Given the description of an element on the screen output the (x, y) to click on. 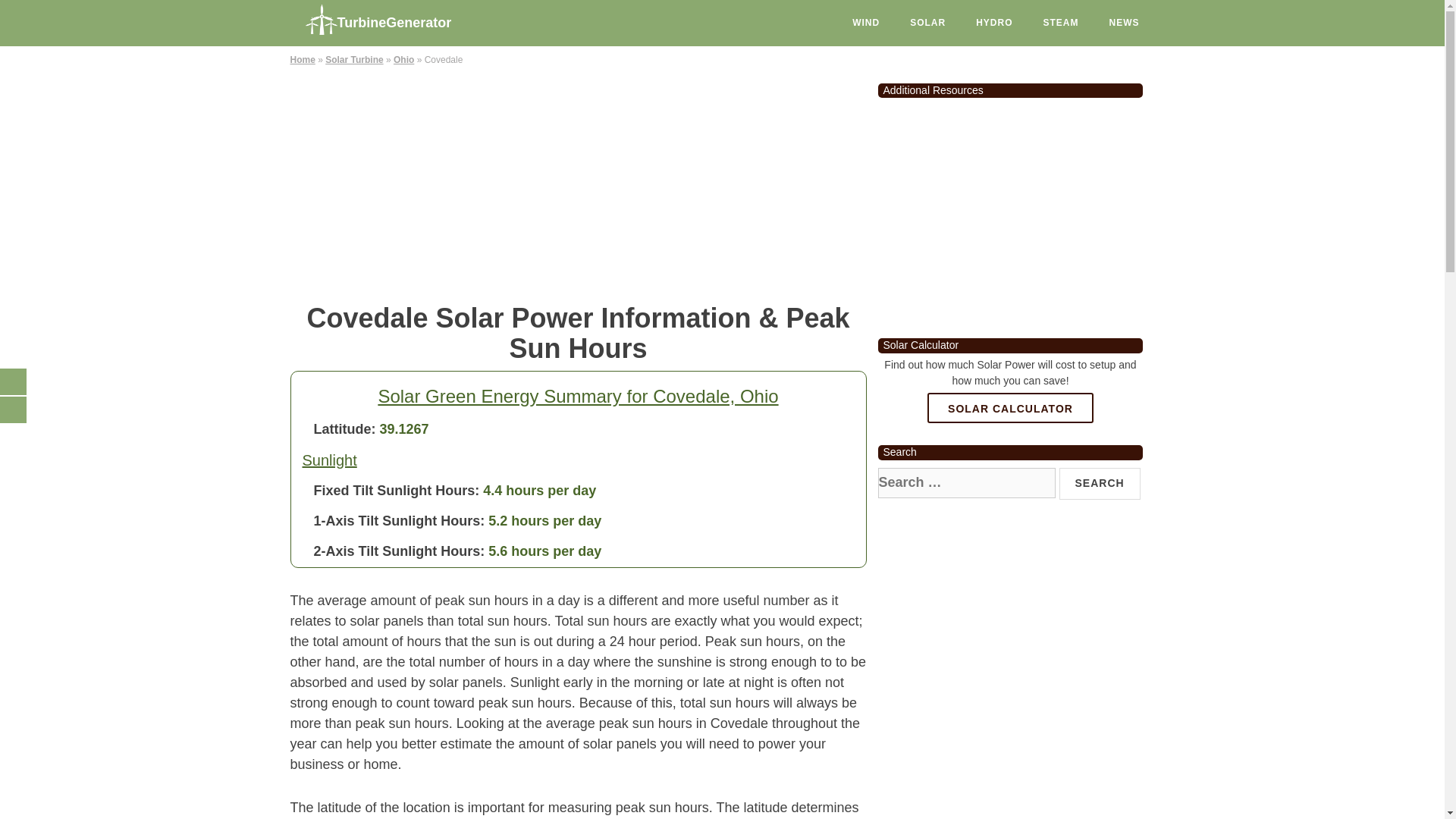
Search (1099, 483)
Solar Turbine (353, 59)
Advertisement (1009, 211)
2-Axis Tilt Sunlight Hours: (399, 550)
TurbineGenerator (402, 18)
Home (301, 59)
Advertisement (577, 182)
Ohio (403, 59)
STEAM (1060, 22)
NEWS (1123, 22)
WIND (866, 22)
Fixed Tilt Sunlight Hours: (397, 490)
1-Axis Tilt Sunlight Hours: (399, 520)
Search (1099, 483)
HYDRO (993, 22)
